Given the description of an element on the screen output the (x, y) to click on. 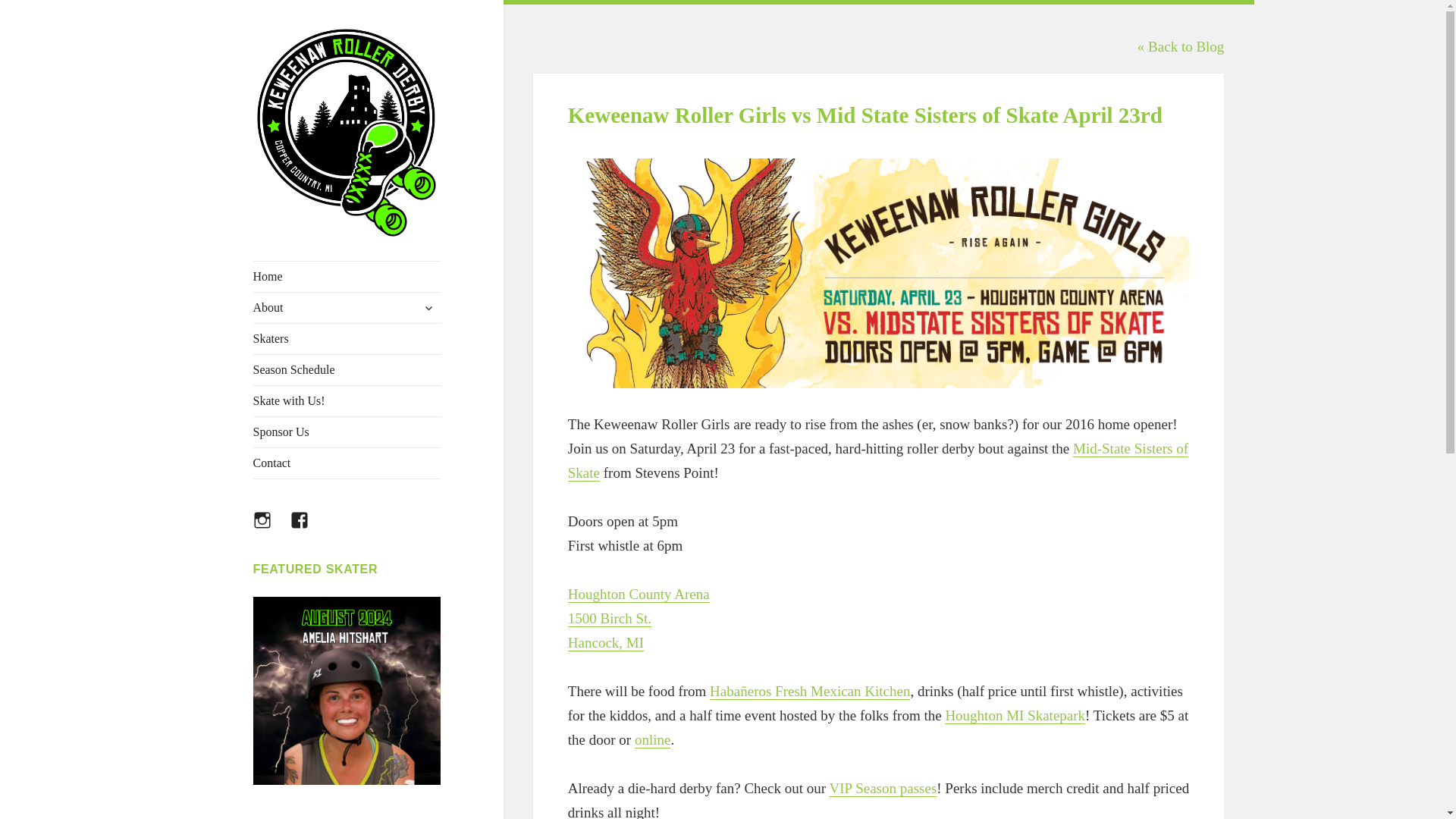
Keweenaw Roller Derby (346, 262)
Contact (347, 462)
About (347, 307)
online (652, 740)
Skate with Us! (347, 400)
Mid-State Sisters of Skate (877, 460)
1500 Birch St. (608, 618)
Houghton MI Skatepark (1014, 715)
VIP Season passes (882, 788)
Facebook (307, 529)
